Given the description of an element on the screen output the (x, y) to click on. 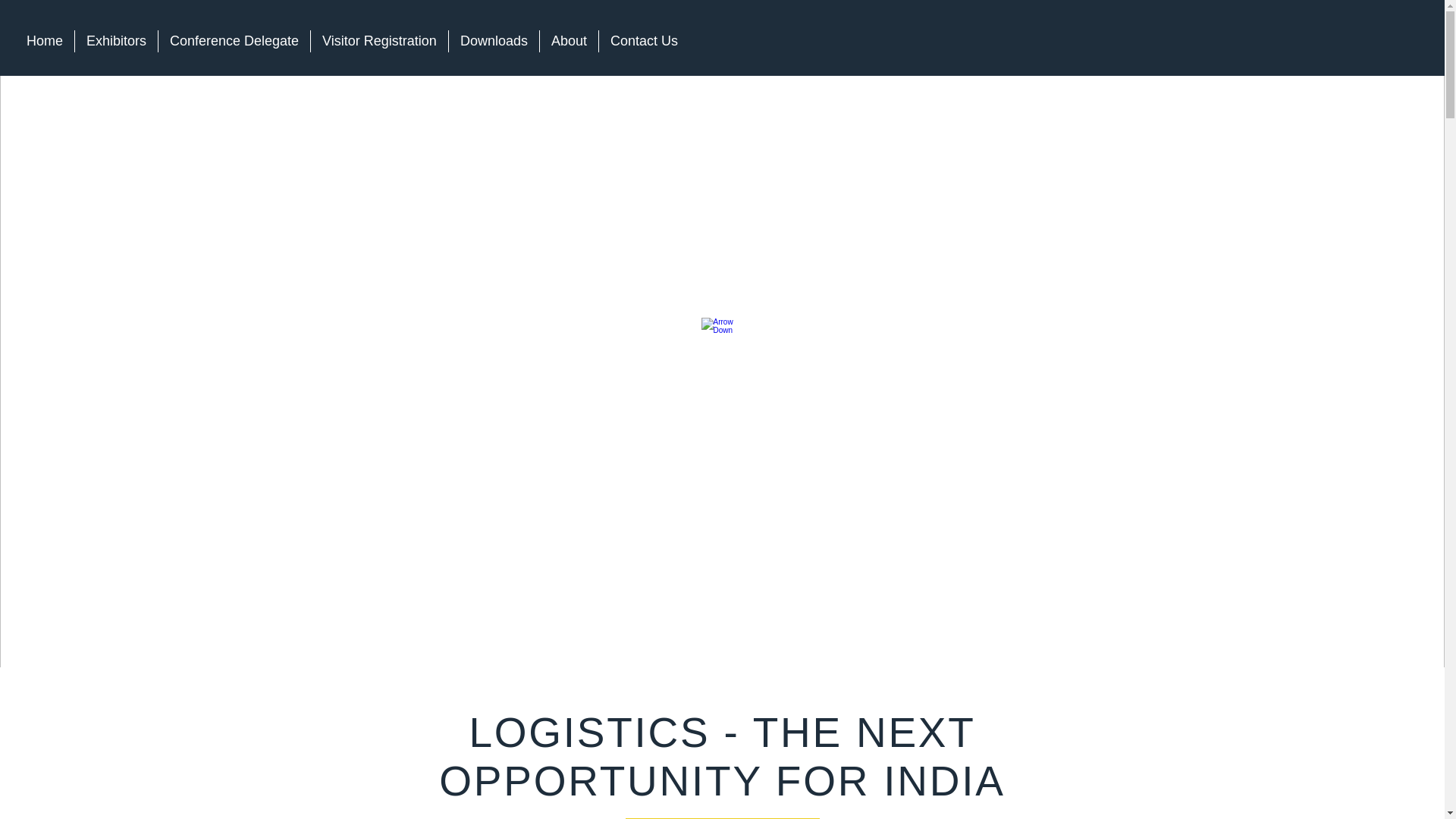
Conference Delegate (234, 41)
Contact Us (643, 41)
Home (44, 41)
Downloads (493, 41)
About (569, 41)
Visitor Registration (379, 41)
Exhibitors (116, 41)
